Given the description of an element on the screen output the (x, y) to click on. 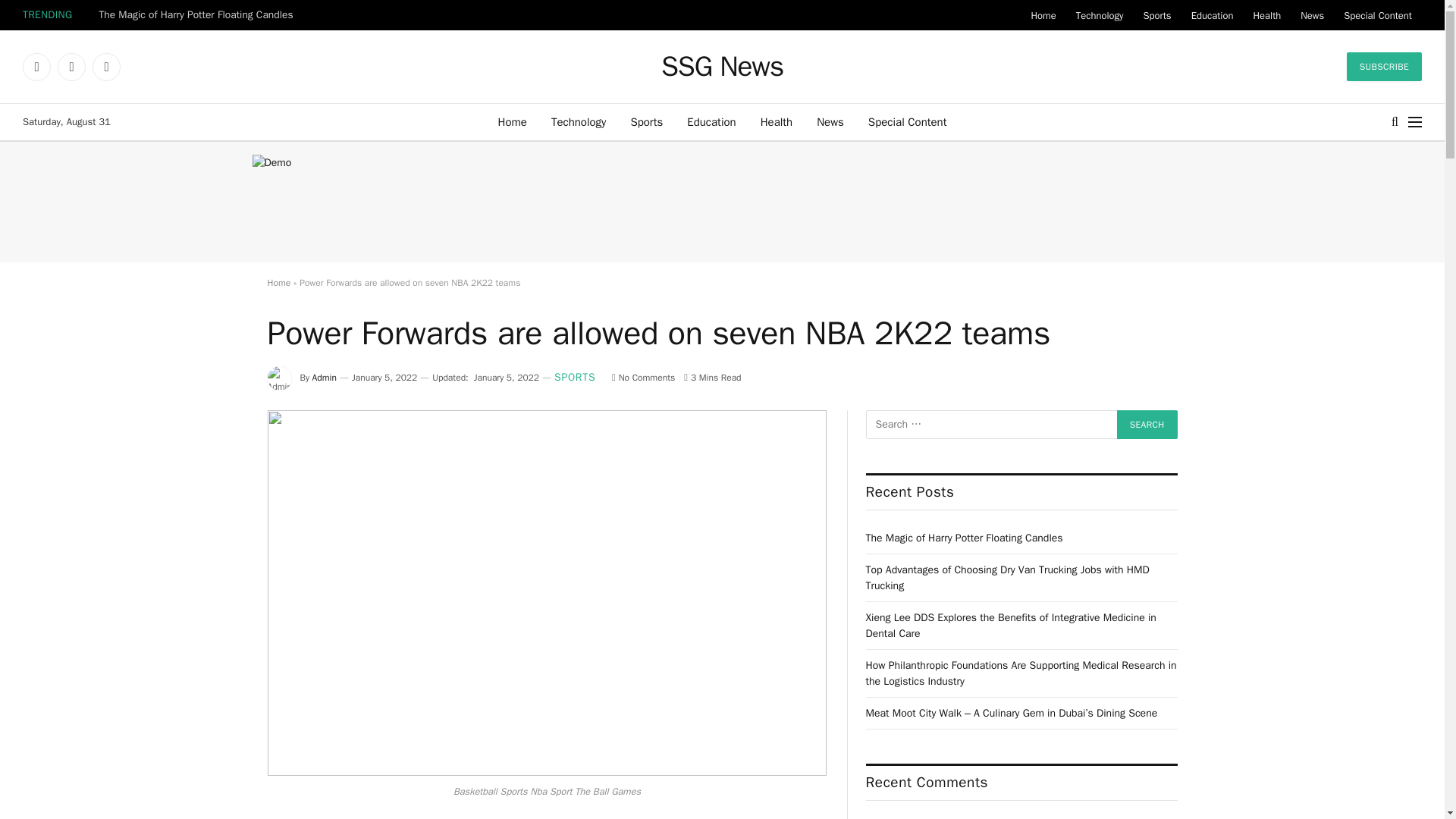
Instagram (106, 67)
SUBSCRIBE (1384, 66)
Home (512, 122)
Facebook (36, 67)
Search (1146, 424)
Special Content (1377, 15)
News (1311, 15)
Posts by Admin (324, 377)
Sports (1156, 15)
Health (1266, 15)
